Given the description of an element on the screen output the (x, y) to click on. 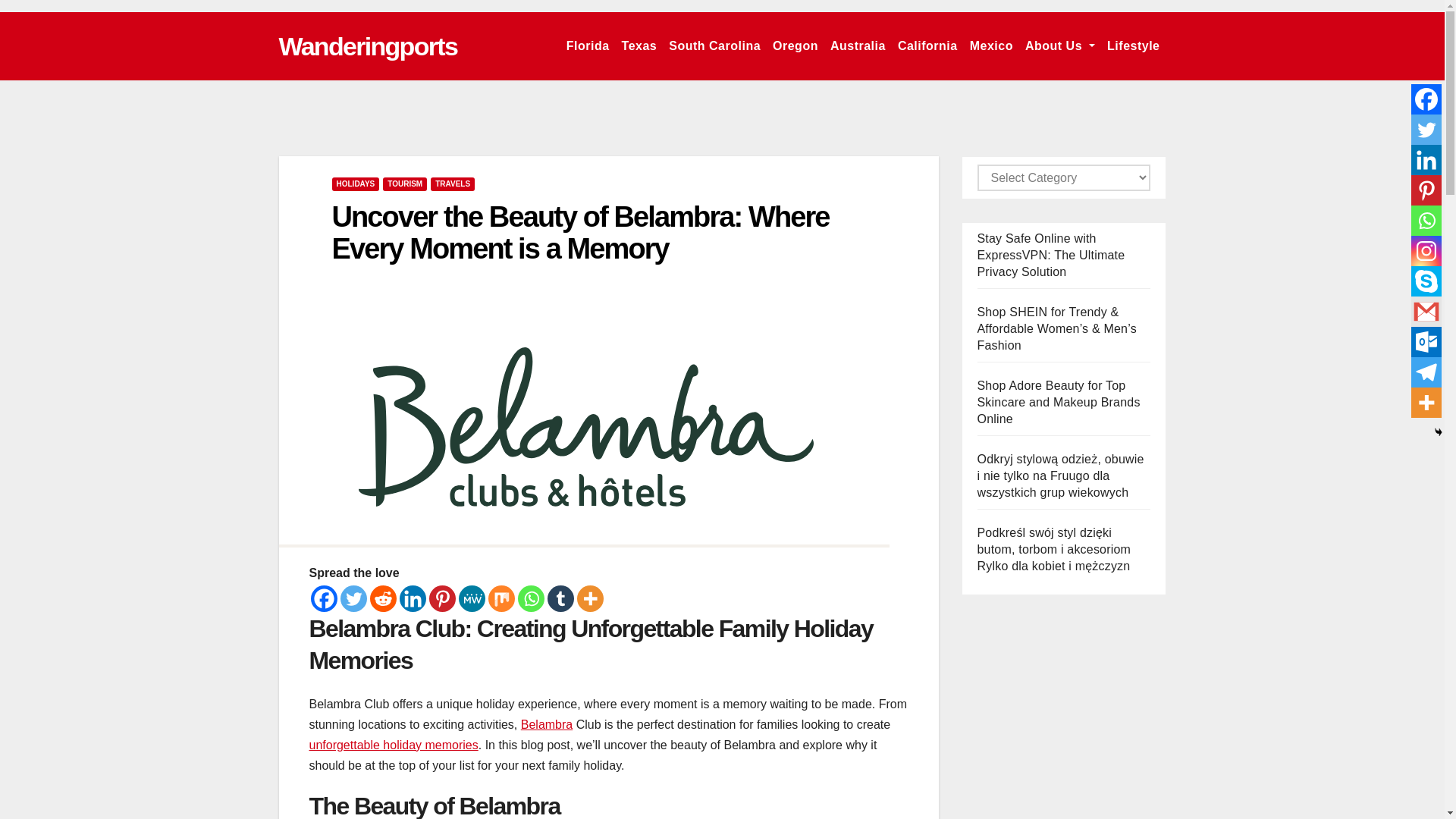
Lifestyle (1133, 46)
Reddit (382, 598)
Twitter (352, 598)
California (927, 46)
About Us (1059, 46)
Belambra (546, 724)
Wanderingports (368, 45)
Australia (857, 46)
HOLIDAYS (355, 183)
California (927, 46)
Facebook (324, 598)
TOURISM (404, 183)
Australia (857, 46)
